Given the description of an element on the screen output the (x, y) to click on. 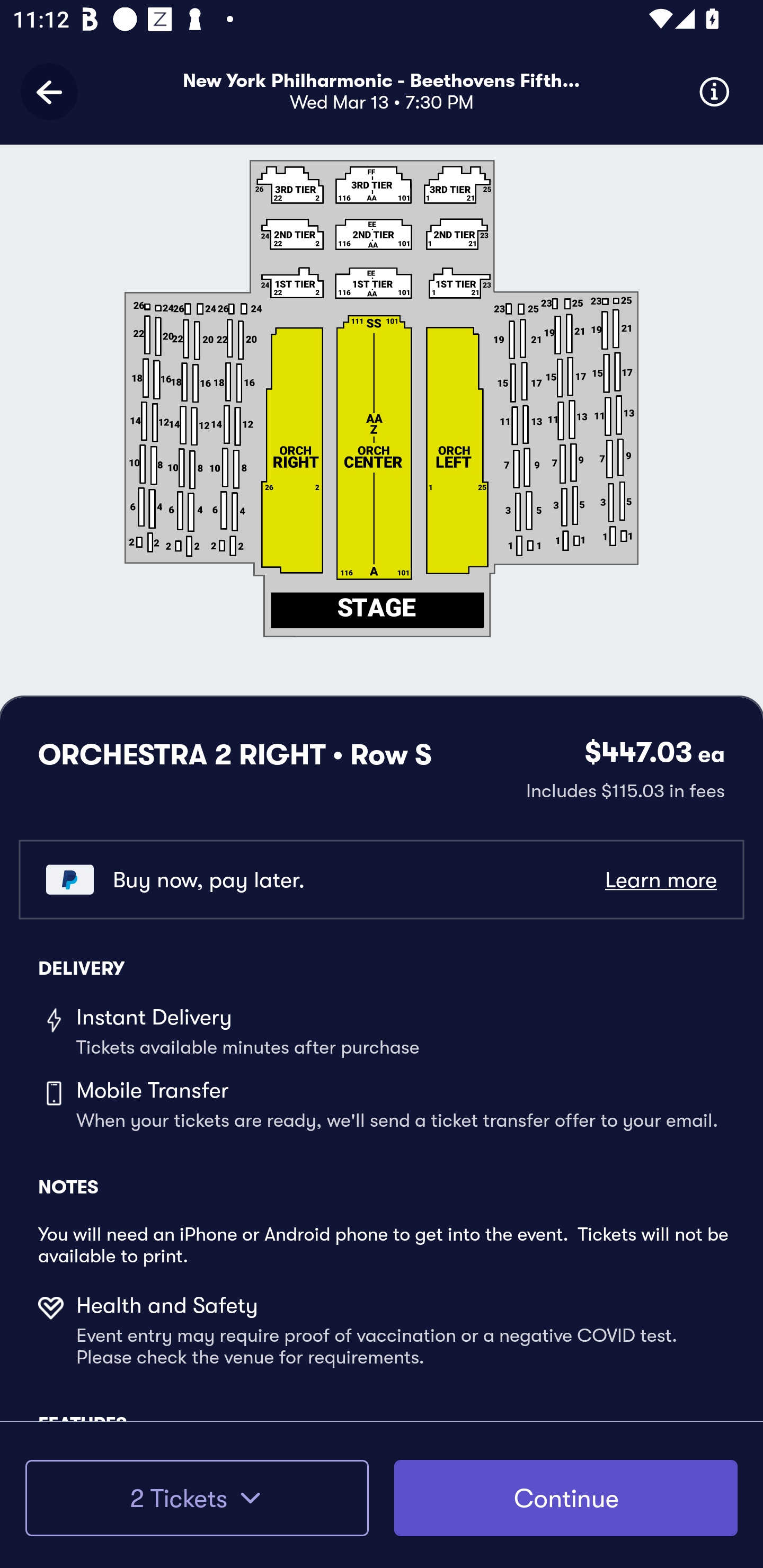
Learn more (660, 880)
2 Tickets (196, 1497)
Continue (565, 1497)
